Given the description of an element on the screen output the (x, y) to click on. 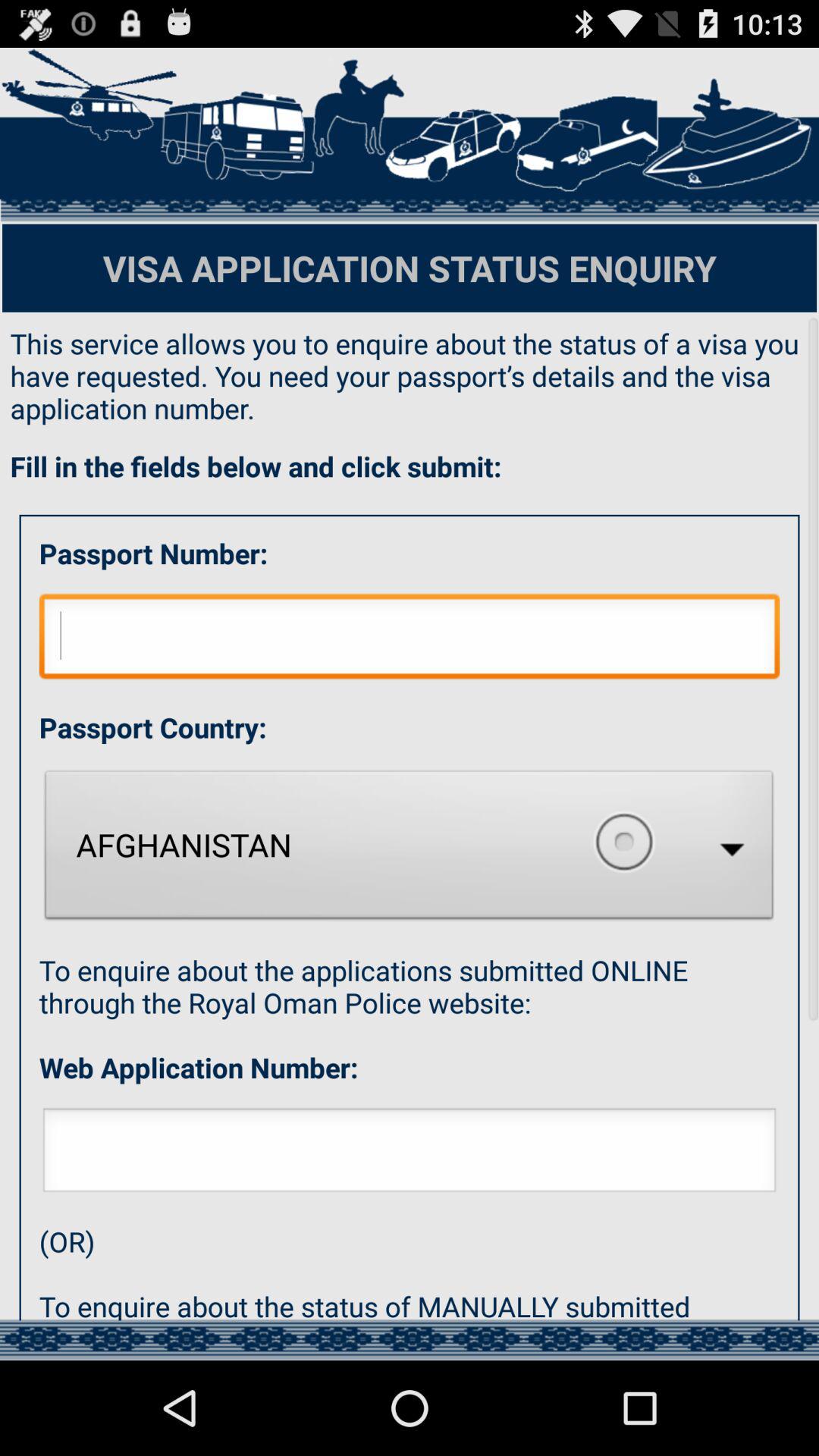
click on the passport number field (409, 135)
select the last text field of the page (409, 1154)
click on the text field below passport number (409, 640)
